Given the description of an element on the screen output the (x, y) to click on. 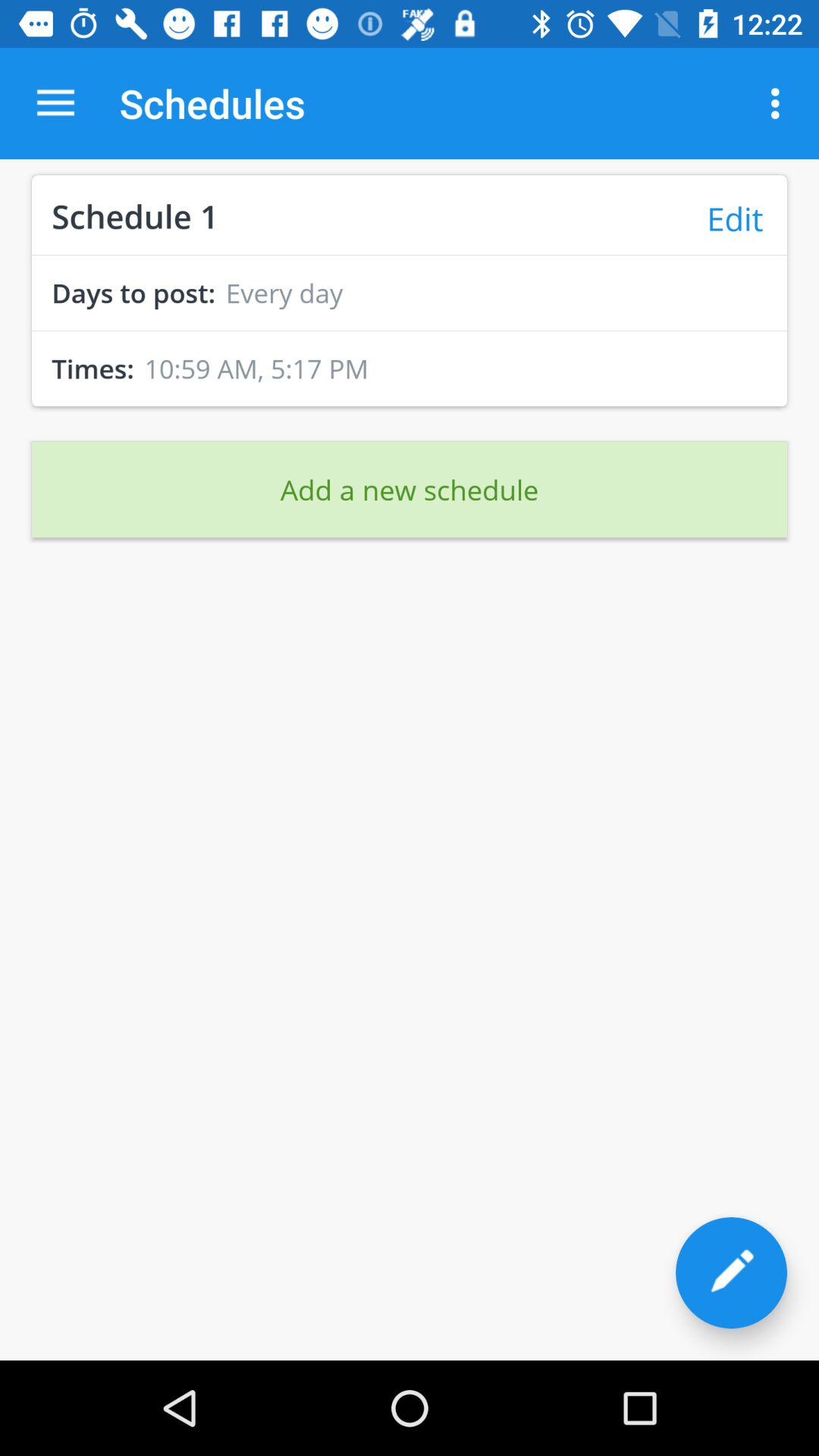
select the icon next to the times: (256, 368)
